Given the description of an element on the screen output the (x, y) to click on. 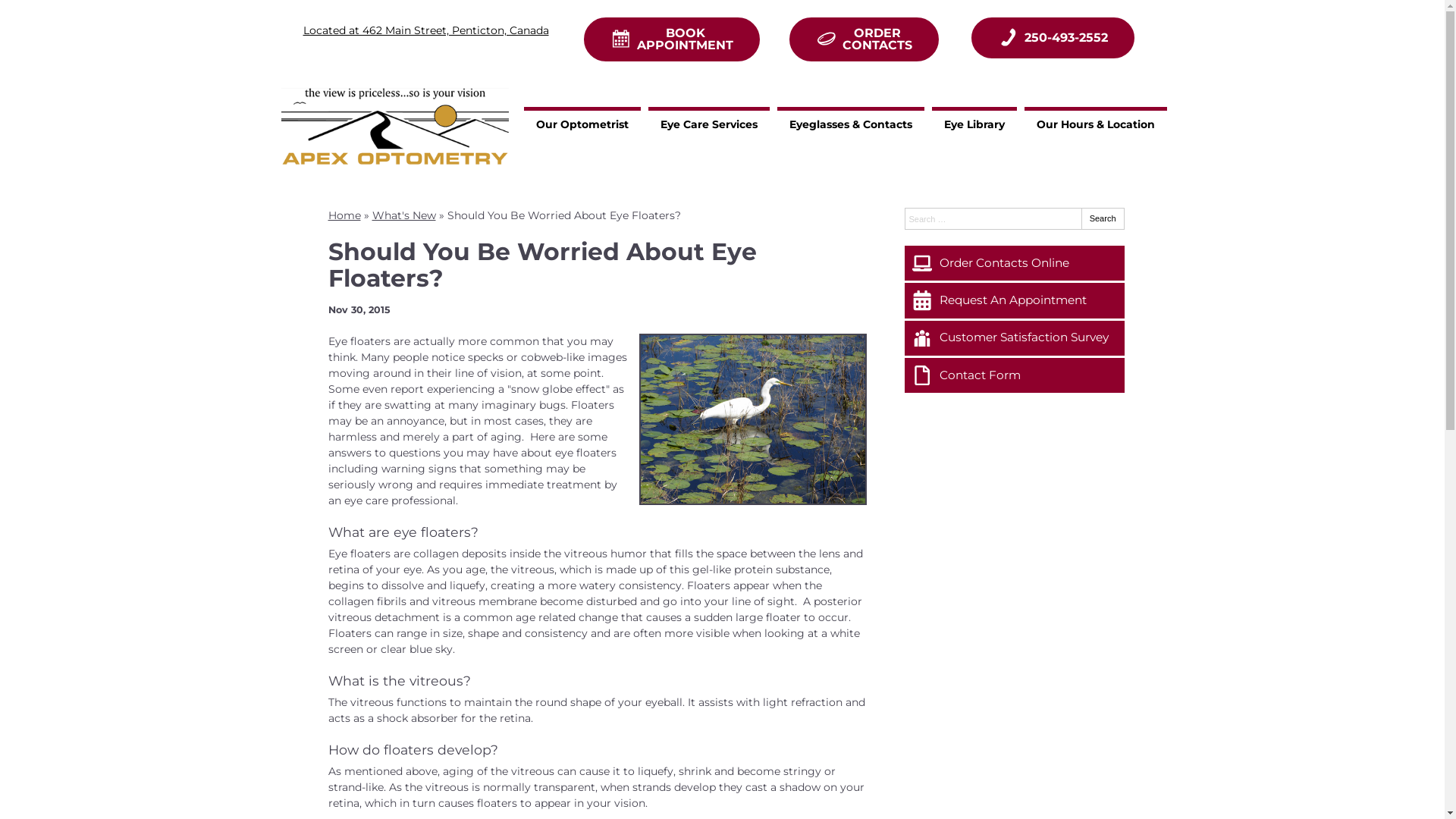
Contact Form Element type: text (1013, 374)
Our Optometrist Element type: text (582, 122)
BOOK APPOINTMENT Element type: text (671, 39)
Eye Care Services Element type: text (708, 122)
Eye Library Element type: text (973, 122)
ORDER CONTACTS Element type: text (864, 39)
250-493-2552 Element type: text (1052, 37)
Located at 462 Main Street, Penticton, Canada Element type: text (426, 30)
What's New Element type: text (403, 215)
Eyeglasses & Contacts Element type: text (850, 122)
Order Contacts Online Element type: text (1013, 262)
Our Hours & Location Element type: text (1095, 122)
Search Element type: text (1102, 218)
Home Element type: text (343, 215)
Request An Appointment Element type: text (1013, 299)
Customer Satisfaction Survey Element type: text (1013, 337)
